Given the description of an element on the screen output the (x, y) to click on. 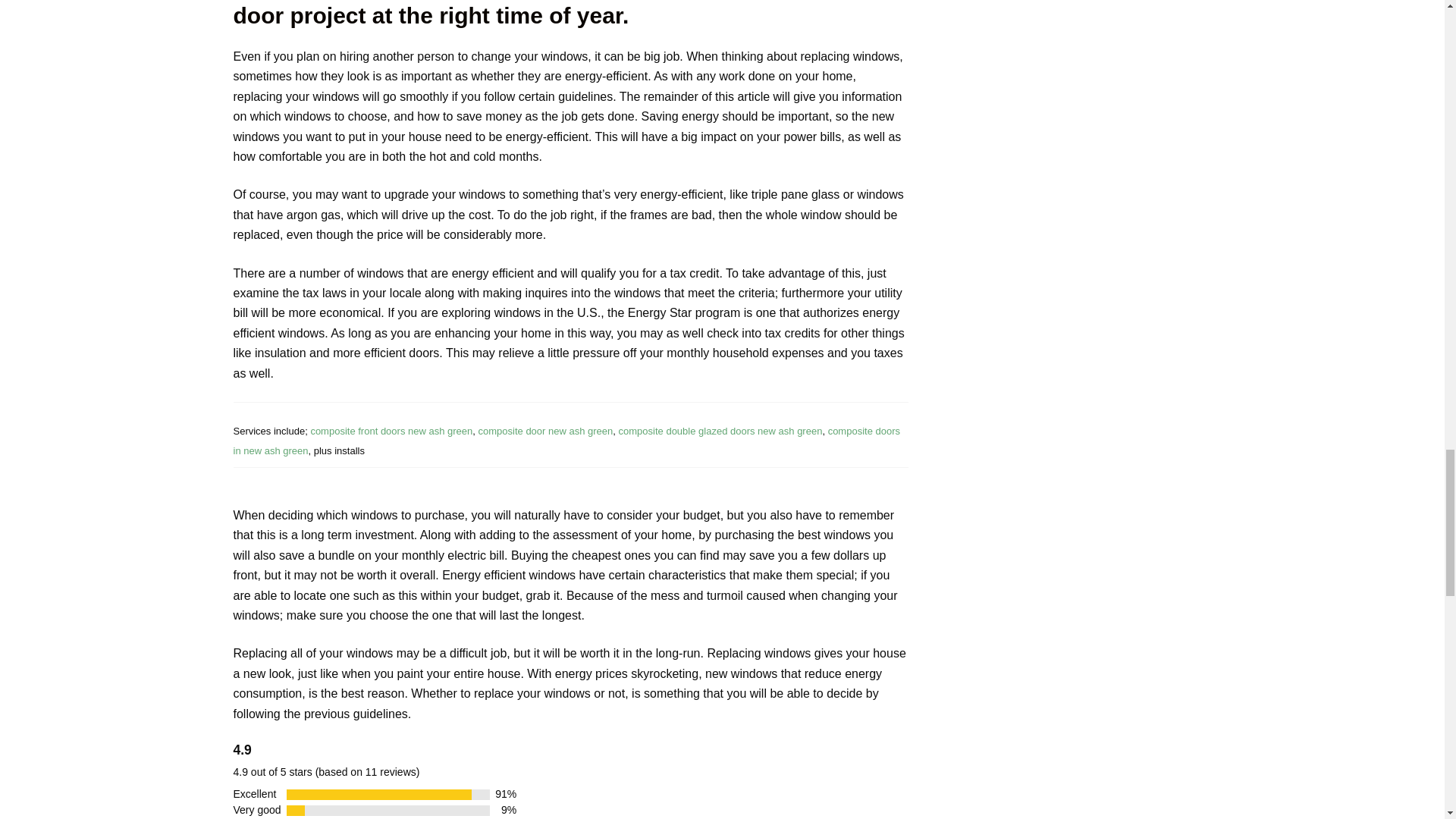
composite doors in new ash green (524, 430)
fit restrictors (557, 440)
stiff handle (708, 430)
composite door new ash green (377, 430)
lock problems (524, 430)
repairs (377, 430)
